Given the description of an element on the screen output the (x, y) to click on. 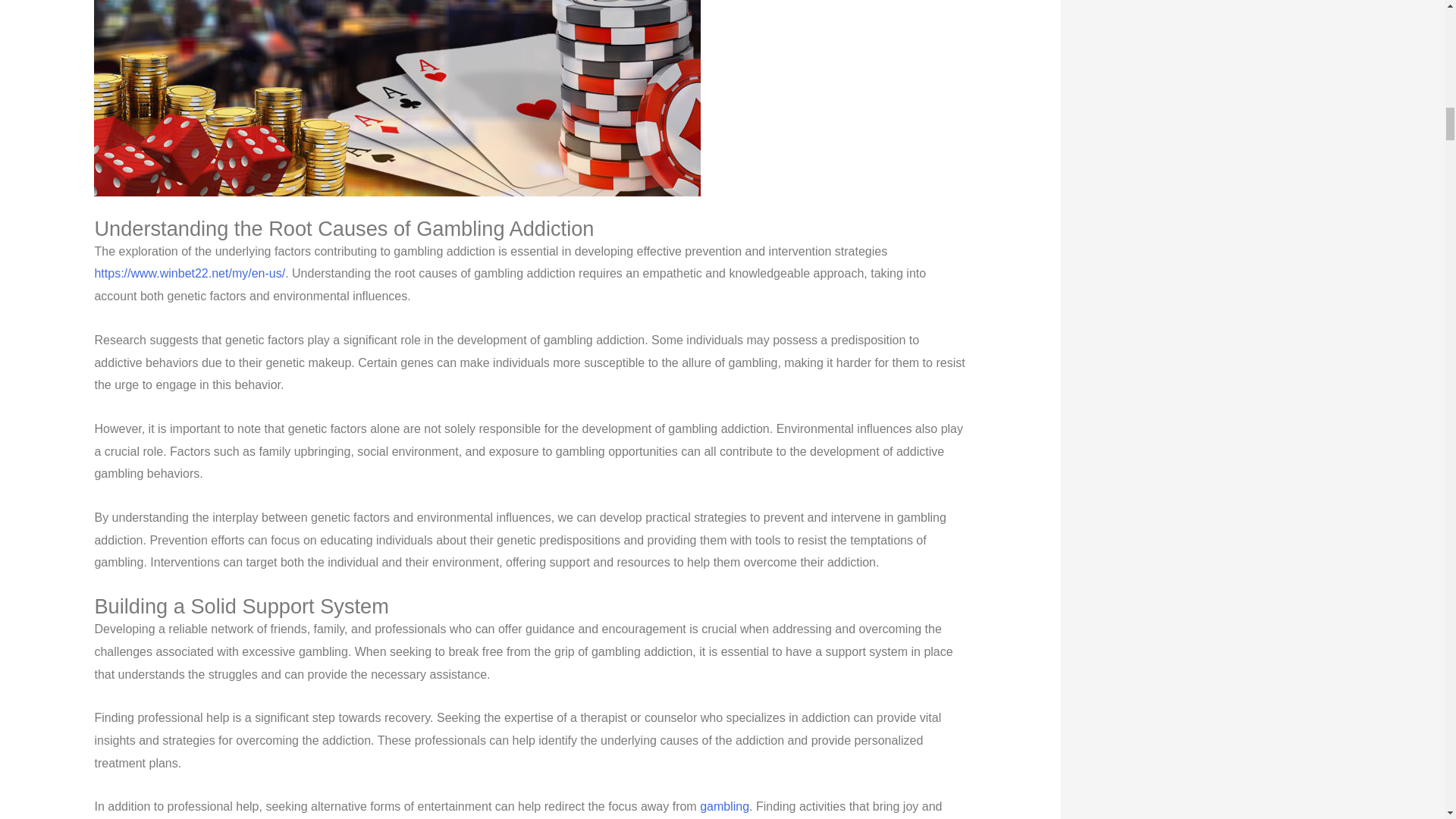
gambling (724, 806)
